Given the description of an element on the screen output the (x, y) to click on. 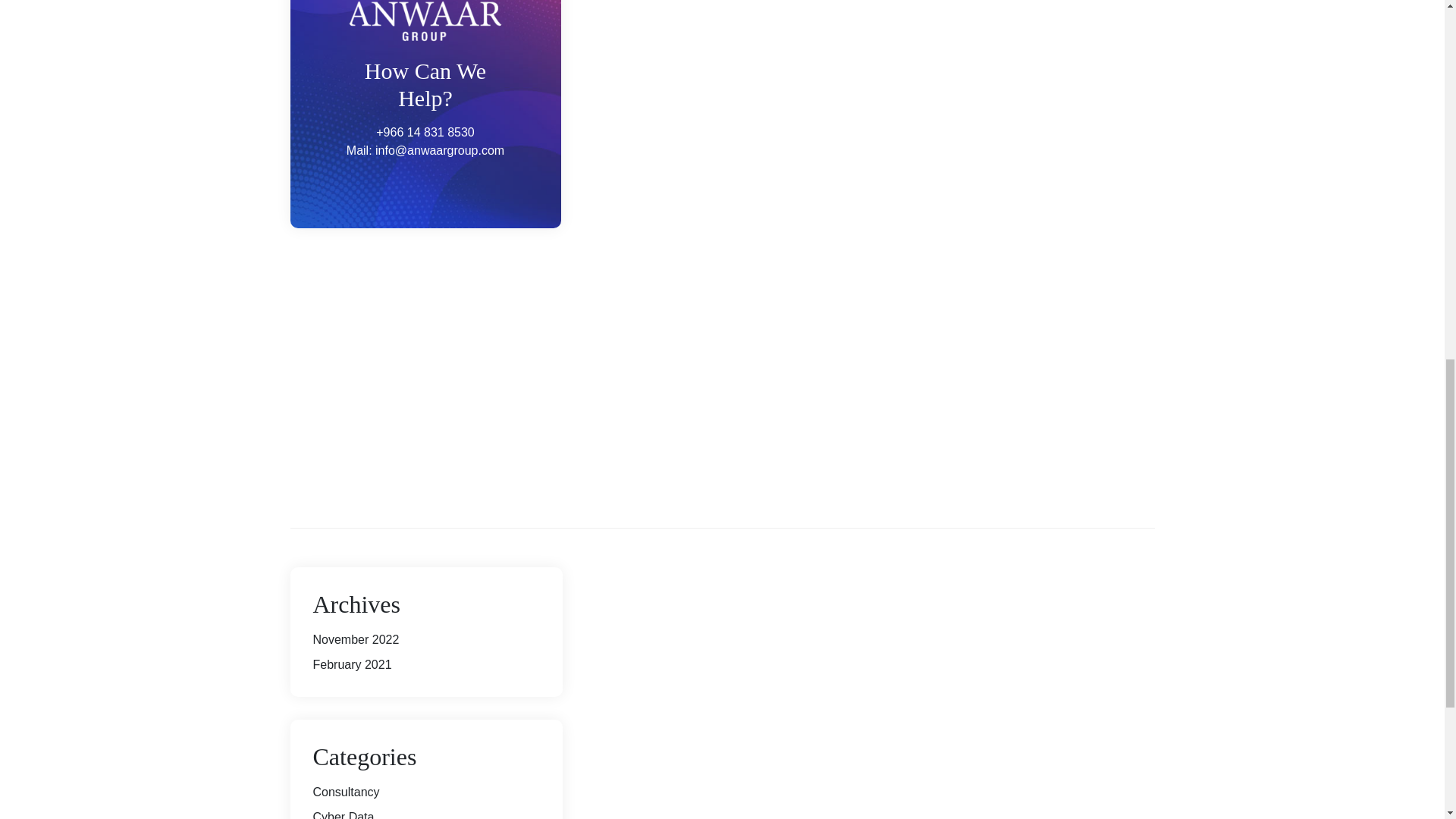
Consultancy (345, 791)
Cyber Data (343, 814)
November 2022 (355, 639)
February 2021 (352, 664)
